Given the description of an element on the screen output the (x, y) to click on. 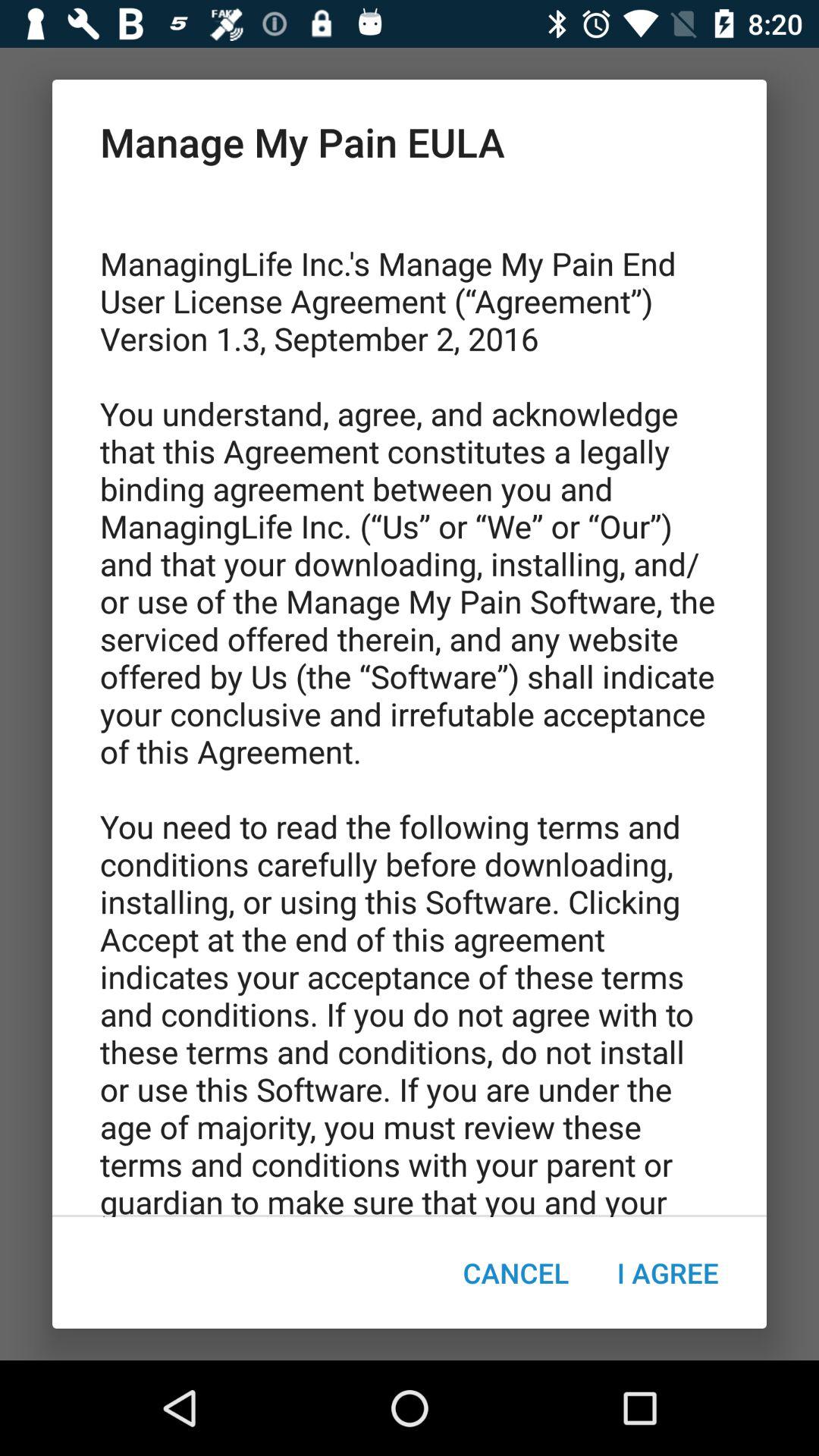
turn off item next to cancel icon (667, 1272)
